Given the description of an element on the screen output the (x, y) to click on. 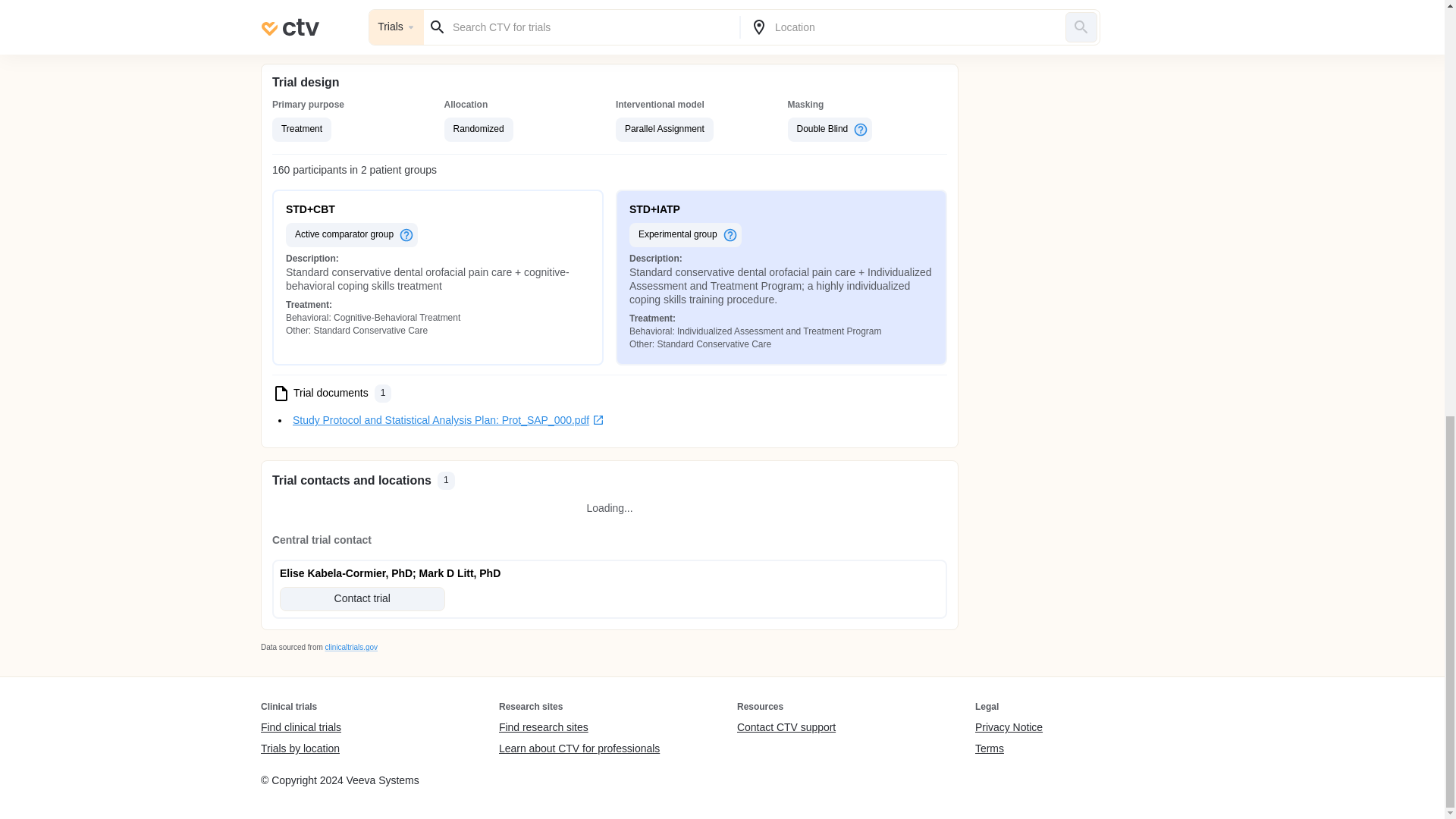
Contact CTV support (785, 727)
Terms (1008, 748)
Find research sites (579, 727)
Learn about CTV for professionals (579, 748)
Contact trial (362, 598)
Find clinical trials (300, 727)
Privacy Notice (1008, 727)
clinicaltrials.gov (350, 646)
Trials by location (300, 748)
